Given the description of an element on the screen output the (x, y) to click on. 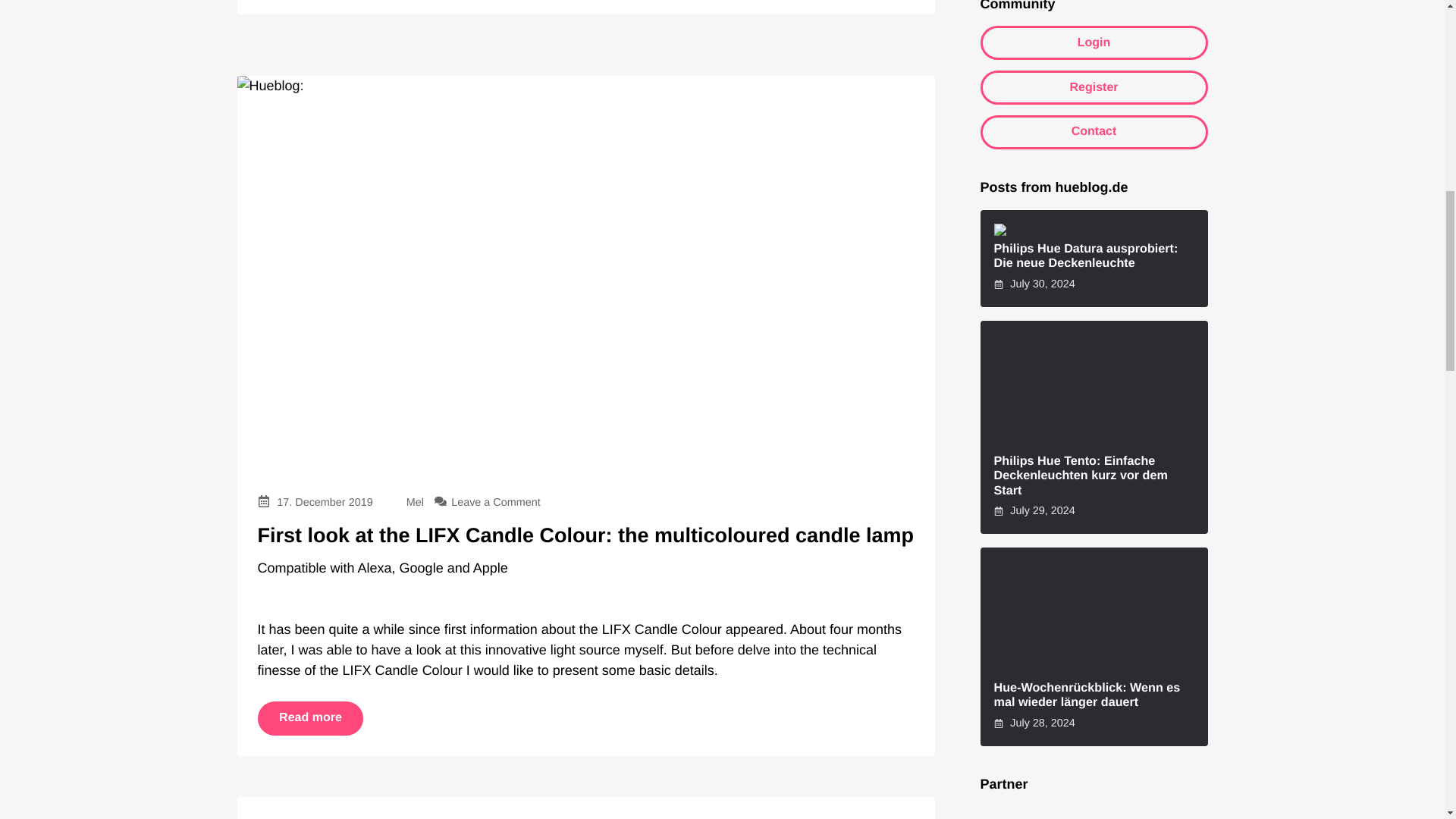
Read more (310, 718)
